Given the description of an element on the screen output the (x, y) to click on. 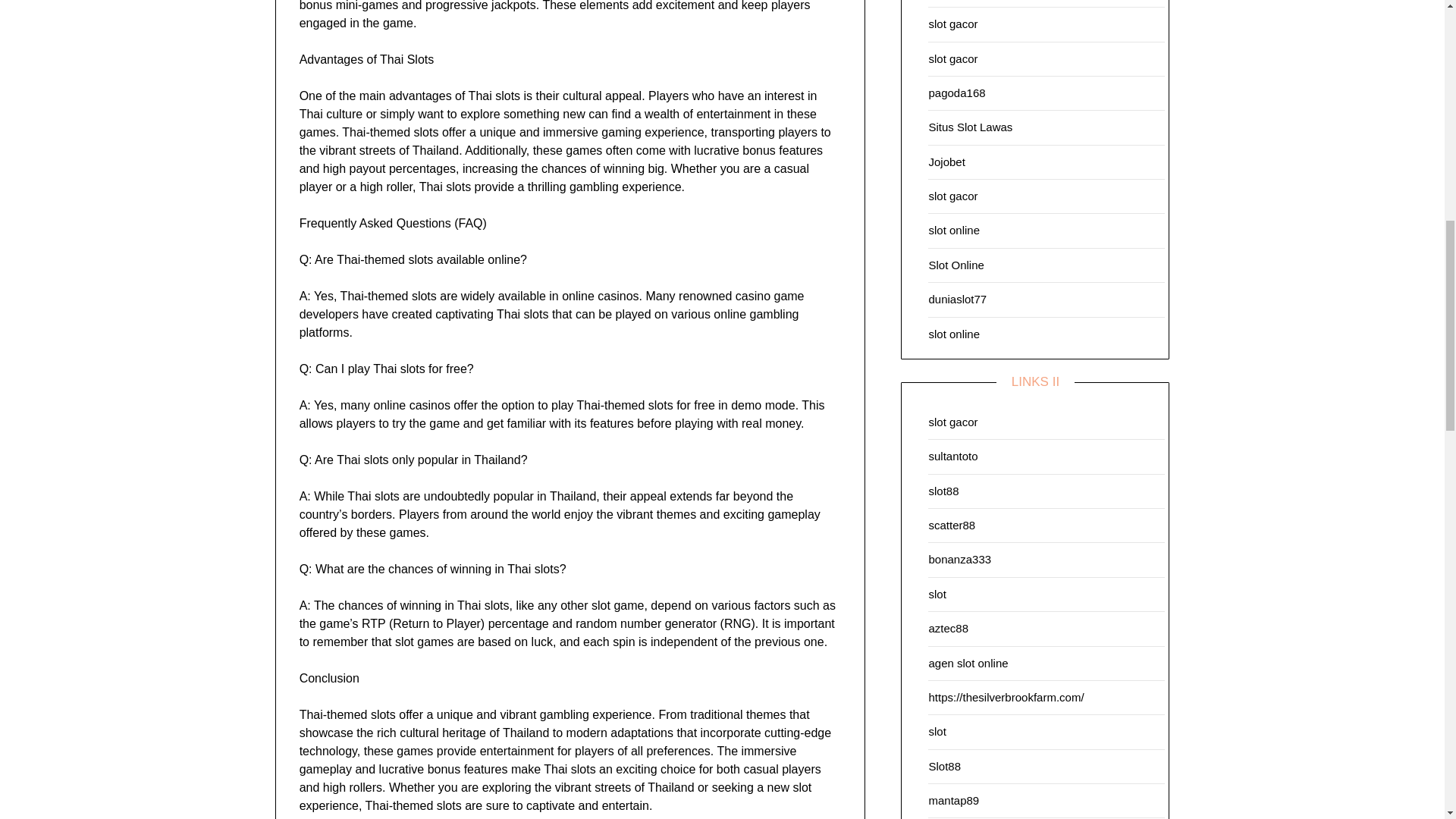
duniaslot77 (957, 298)
slot gacor (952, 57)
Situs Slot Lawas (969, 126)
Jojobet (945, 161)
Slot Online (956, 264)
slot gacor (952, 23)
slot online (953, 229)
slot gacor (952, 195)
pagoda168 (956, 92)
